Given the description of an element on the screen output the (x, y) to click on. 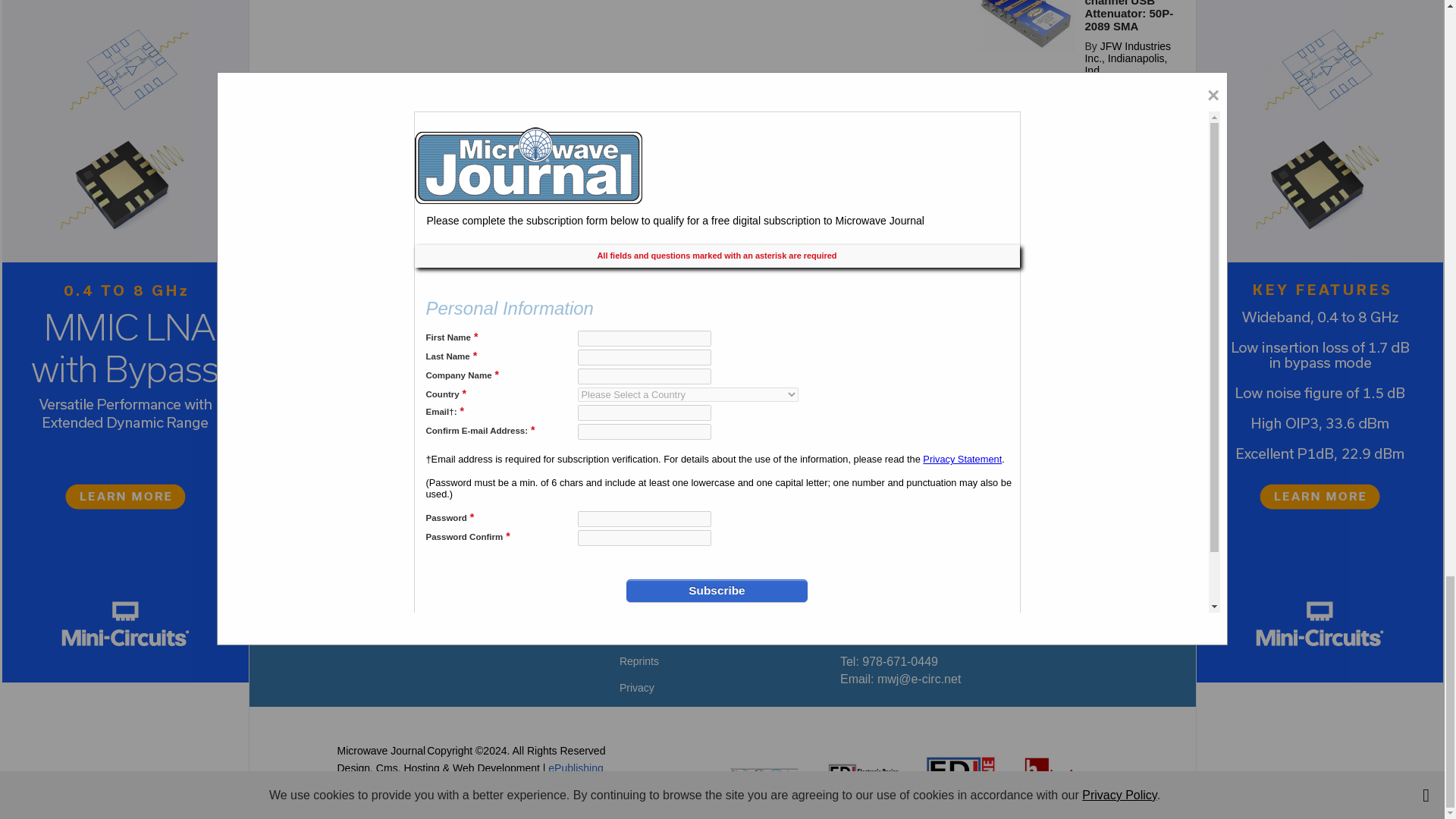
3rd party ad content (721, 396)
50P-2089 SMAwjt.jpg (1025, 25)
richardson-2-29-24wjt.jpg (1025, 251)
200x200 AMP 2123P-4KW No-Cost eNewsletter Promotion-6-3.jpg (1025, 146)
